Given the description of an element on the screen output the (x, y) to click on. 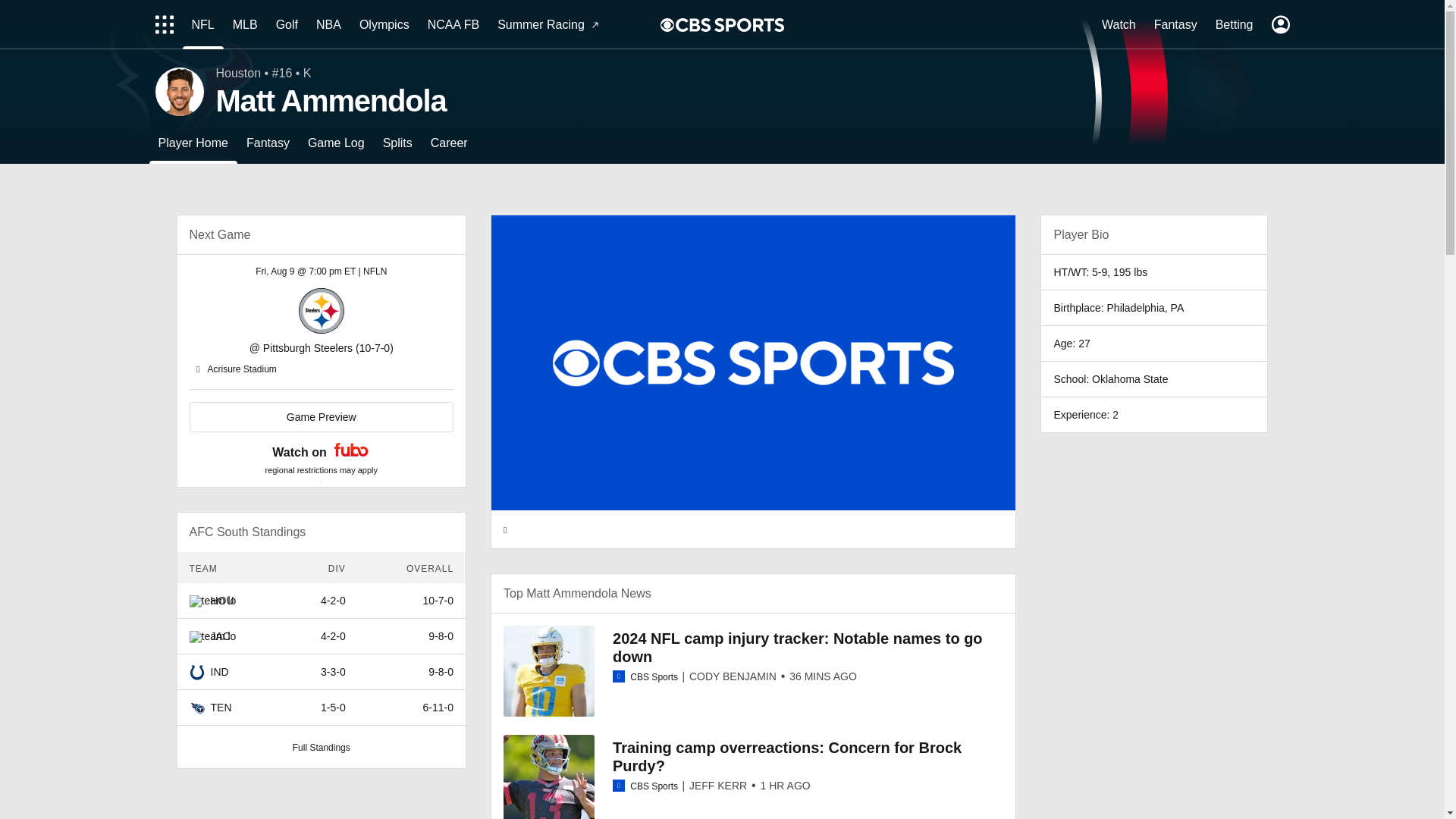
CBS Eye (667, 24)
CBS Logo (729, 24)
